Given the description of an element on the screen output the (x, y) to click on. 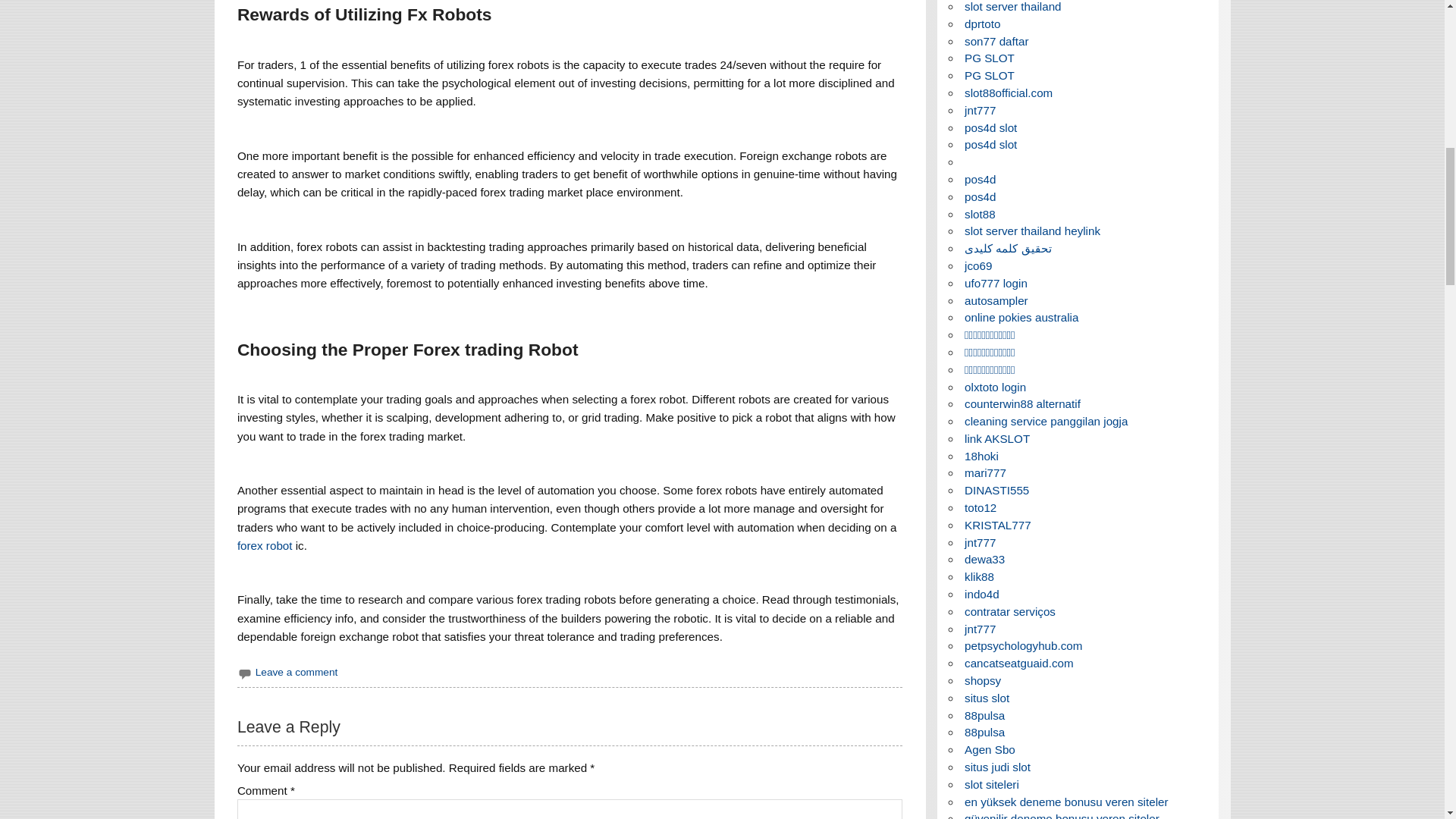
forex robot (264, 545)
Leave a comment (296, 672)
